Given the description of an element on the screen output the (x, y) to click on. 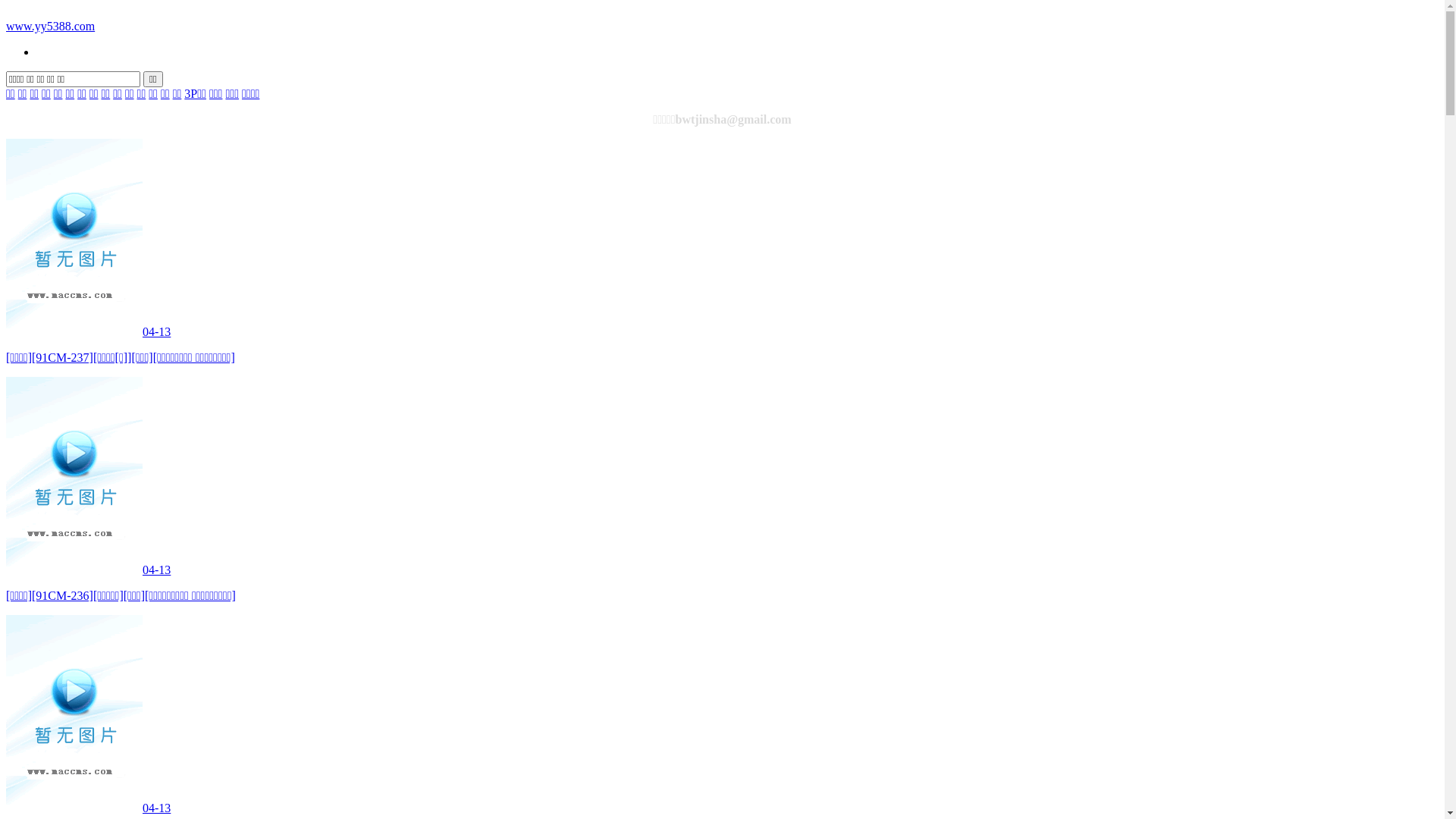
04-13 Element type: text (88, 569)
04-13 Element type: text (88, 807)
www.yy5388.com Element type: text (50, 25)
04-13 Element type: text (88, 331)
